Given the description of an element on the screen output the (x, y) to click on. 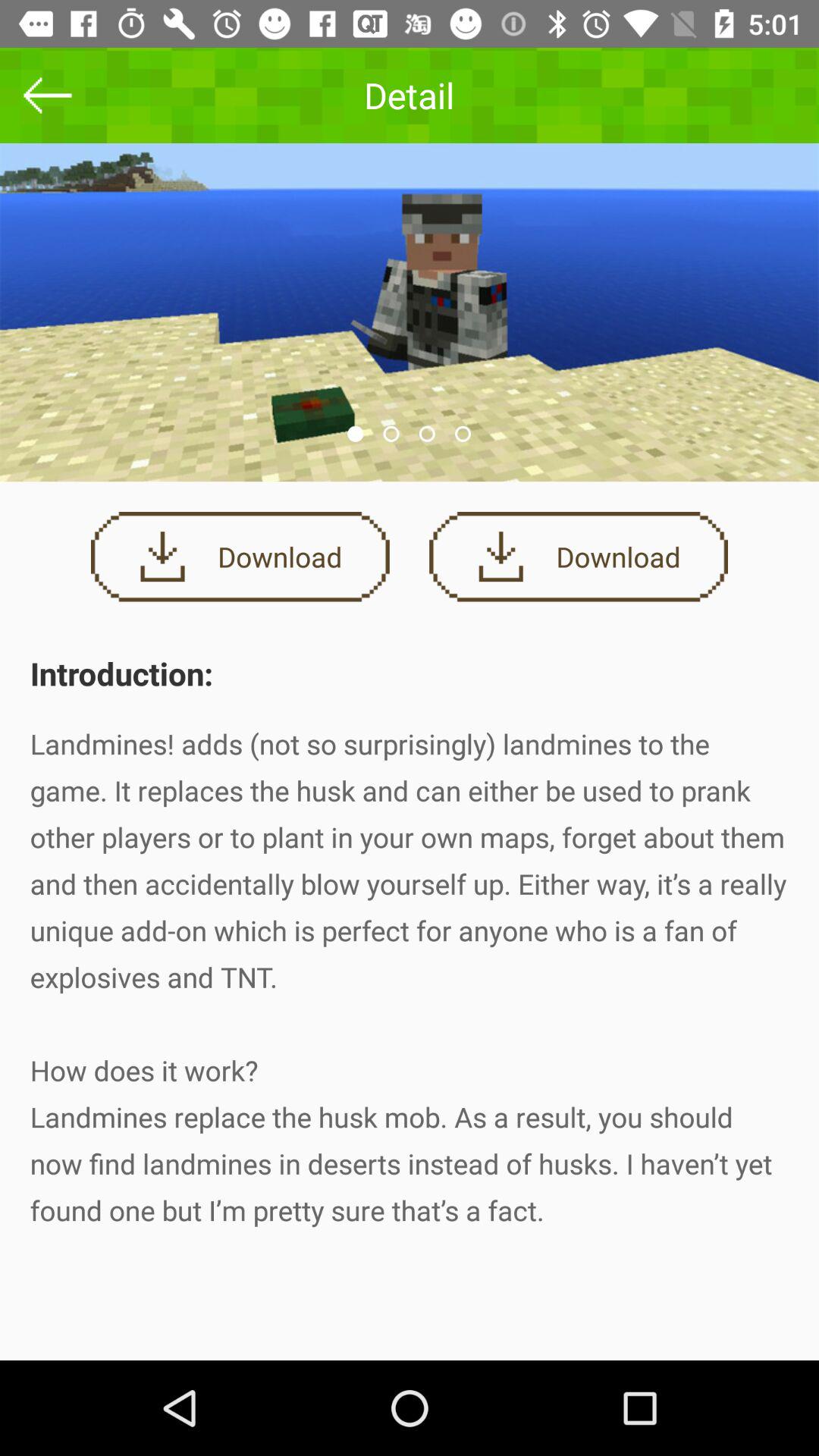
go back (47, 95)
